Given the description of an element on the screen output the (x, y) to click on. 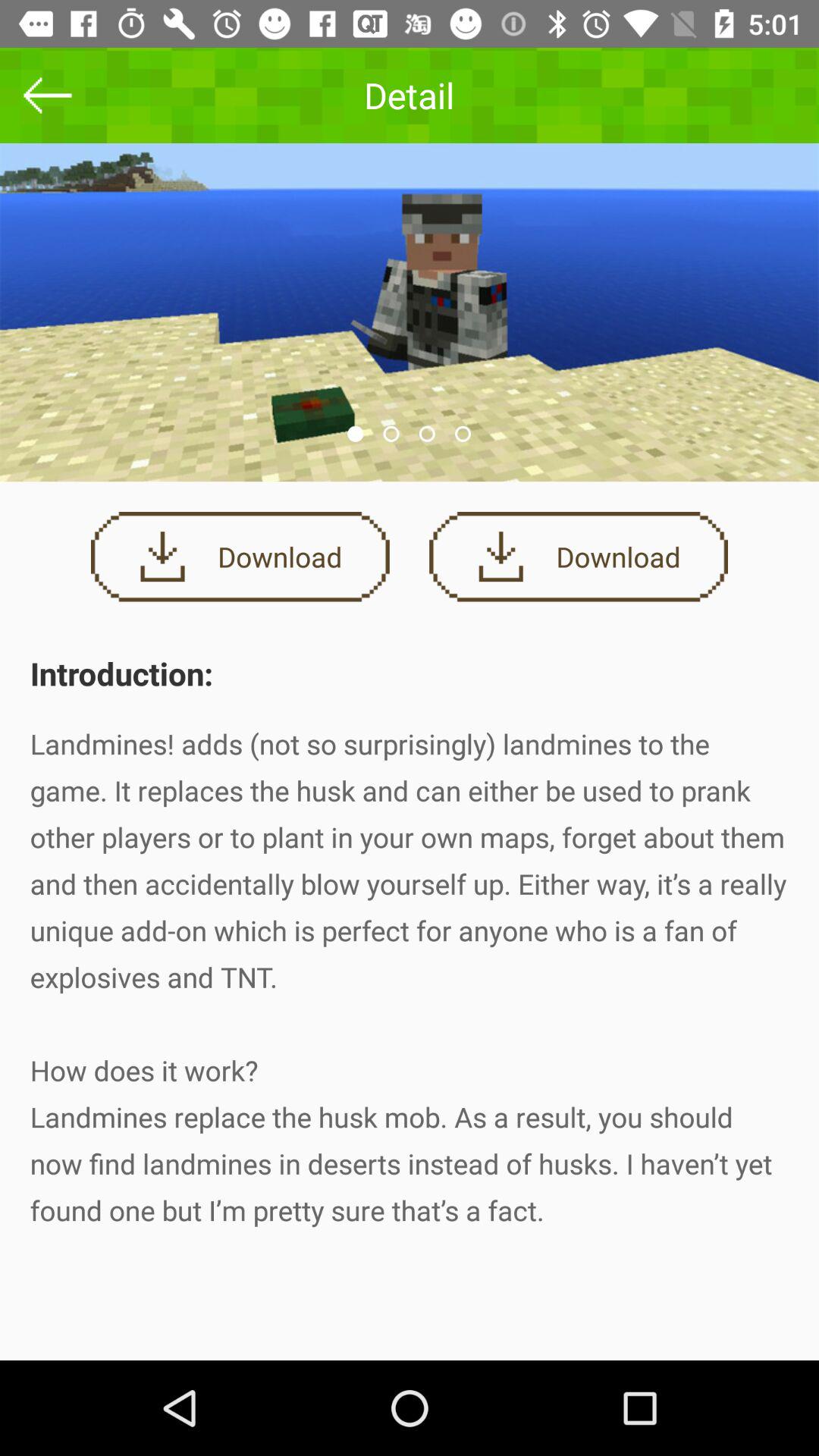
go back (47, 95)
